Given the description of an element on the screen output the (x, y) to click on. 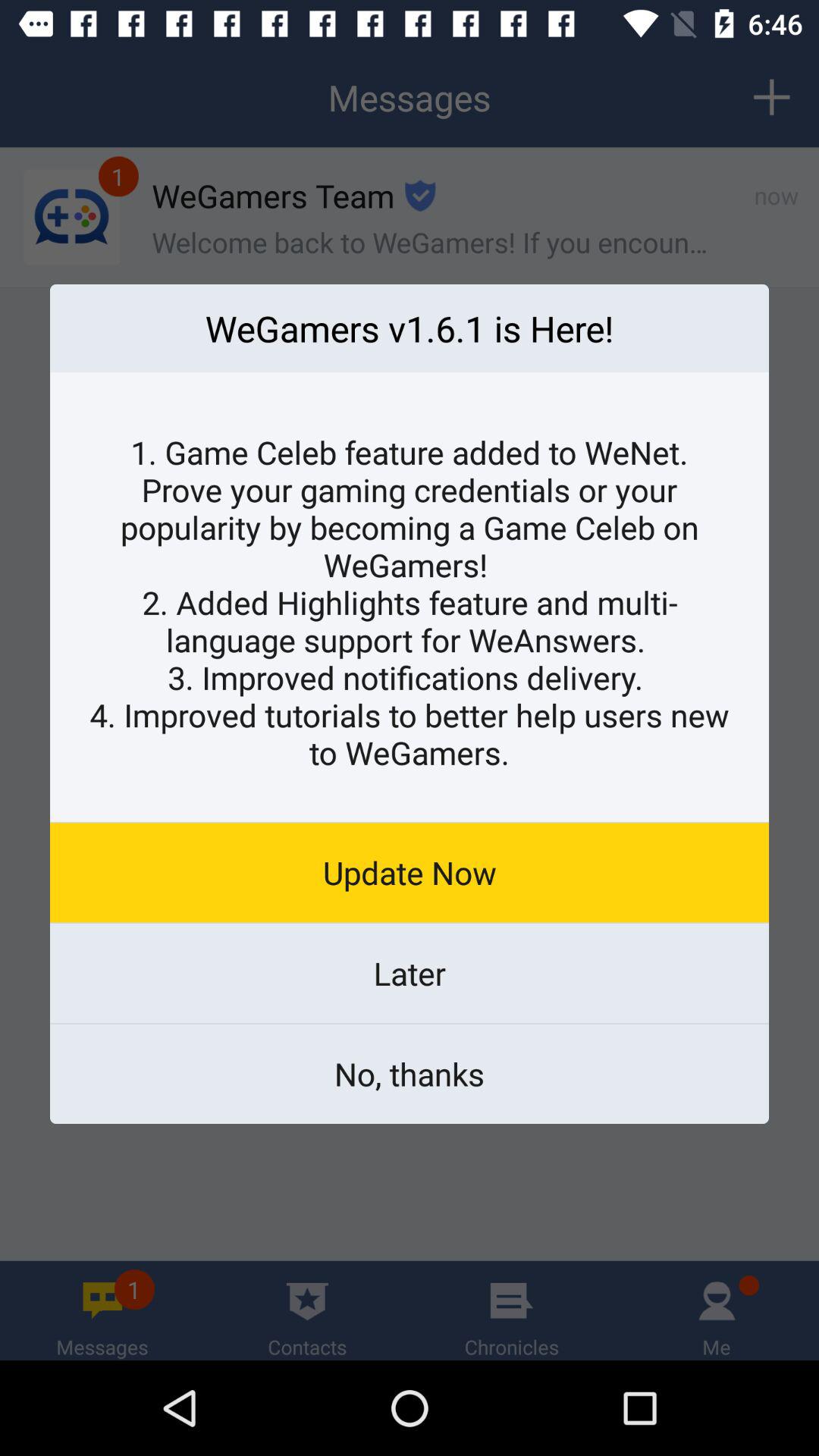
choose the no, thanks item (409, 1073)
